Given the description of an element on the screen output the (x, y) to click on. 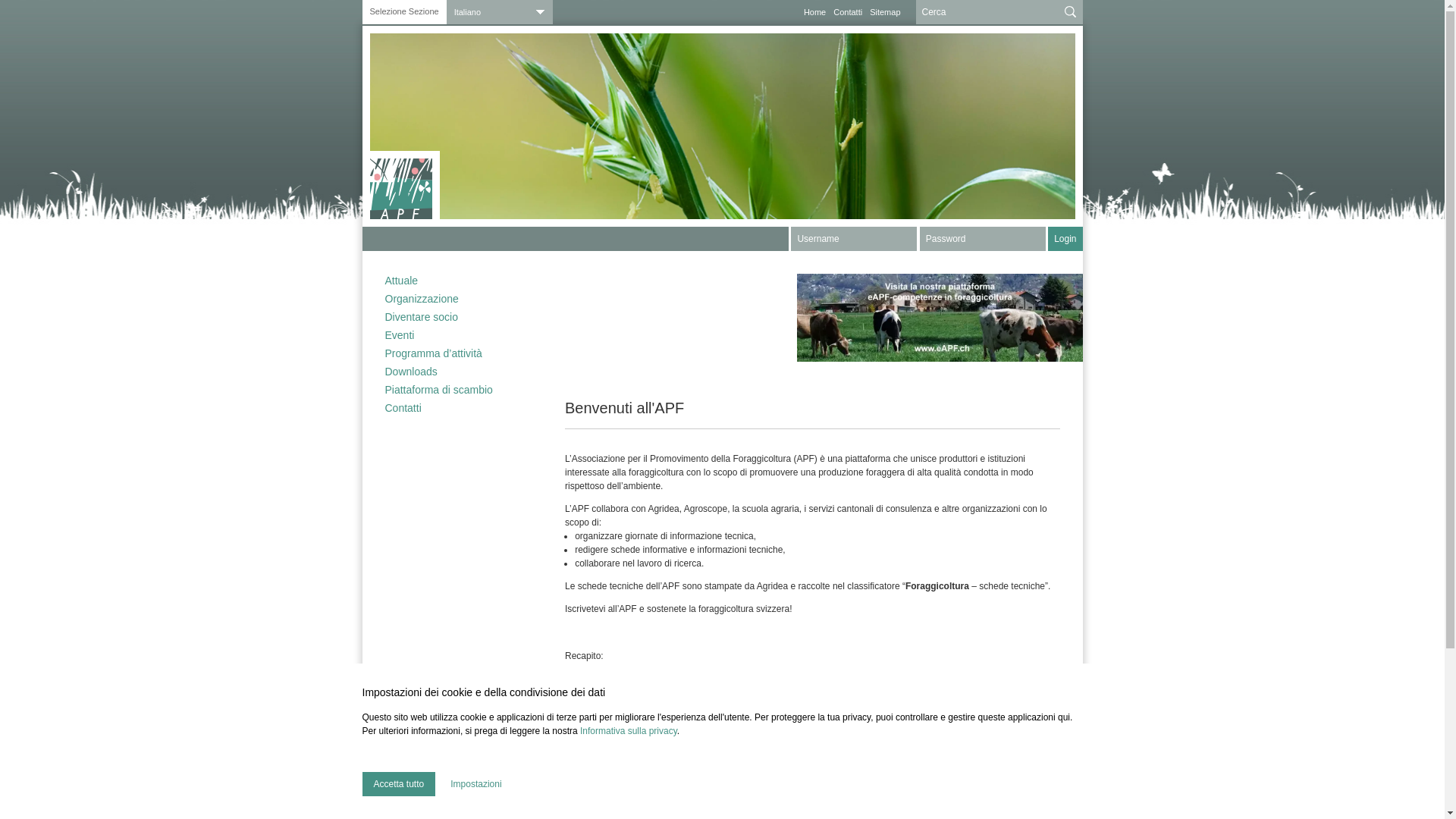
Contatti Element type: text (452, 407)
07 Element type: hover (722, 125)
Cerca Element type: text (1070, 11)
Informativa sulla privacy Element type: text (628, 730)
Contatti Element type: text (847, 11)
Eventi Element type: text (452, 335)
Attuale Element type: text (452, 281)
Organizzazione Element type: text (452, 298)
Login Element type: text (1065, 238)
Accetta tutto Element type: text (399, 783)
Associazione per il Promovimento della Foraggicoltura (APF) Element type: hover (404, 184)
Diventare socio Element type: text (452, 316)
Piattaforma di scambio Element type: text (452, 389)
Impostazioni Element type: text (475, 783)
Sitemap Element type: text (884, 11)
Home Element type: text (814, 11)
Downloads Element type: text (452, 371)
Italiano Element type: text (499, 12)
